Given the description of an element on the screen output the (x, y) to click on. 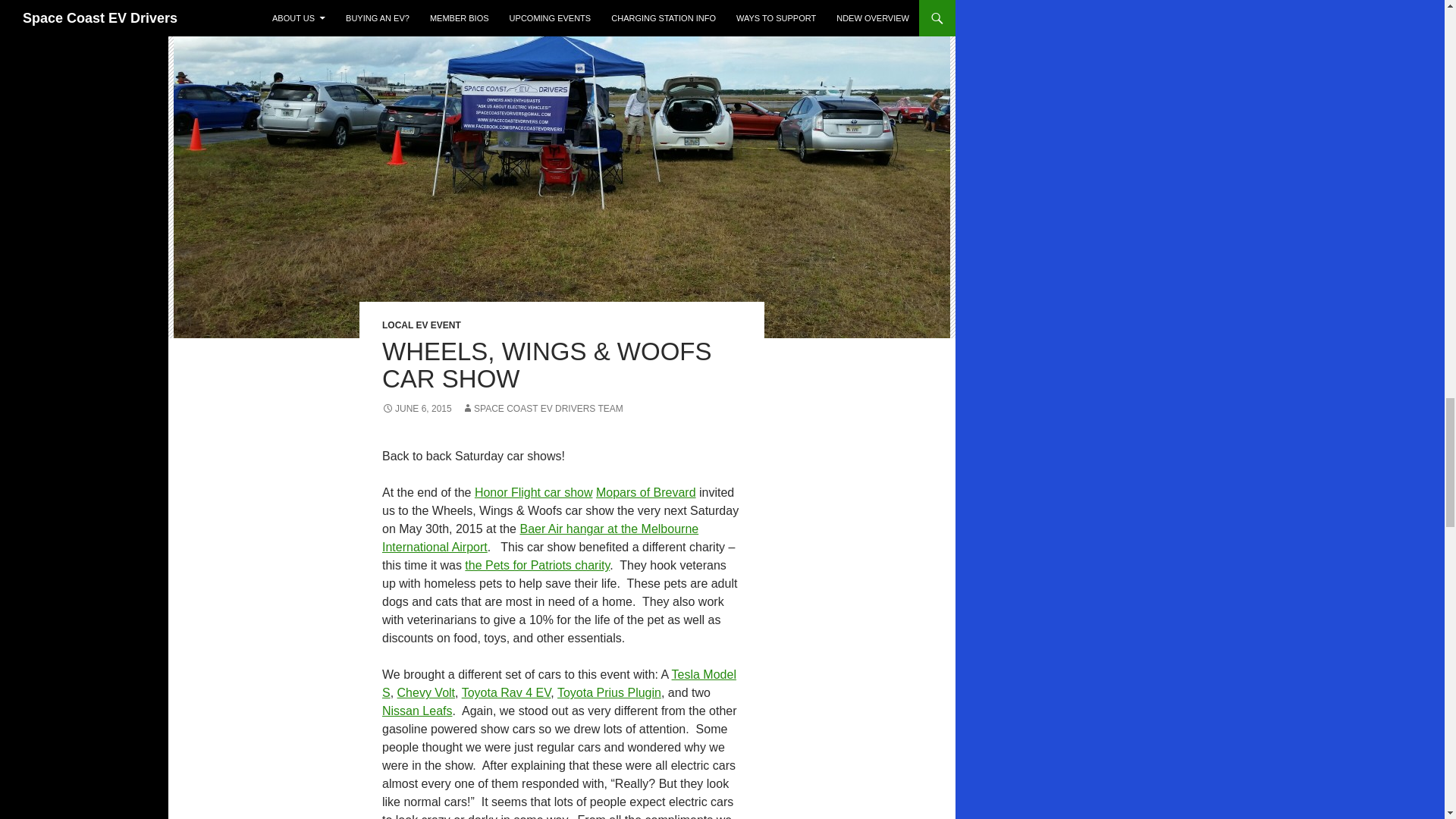
Honor Flight Car Show (533, 492)
SPACE COAST EV DRIVERS TEAM (542, 408)
Mopars of Brevard (645, 492)
LOCAL EV EVENT (421, 325)
JUNE 6, 2015 (416, 408)
Honor Flight car show (533, 492)
Baer Air hangar at the Melbourne International Airport (539, 537)
